Given the description of an element on the screen output the (x, y) to click on. 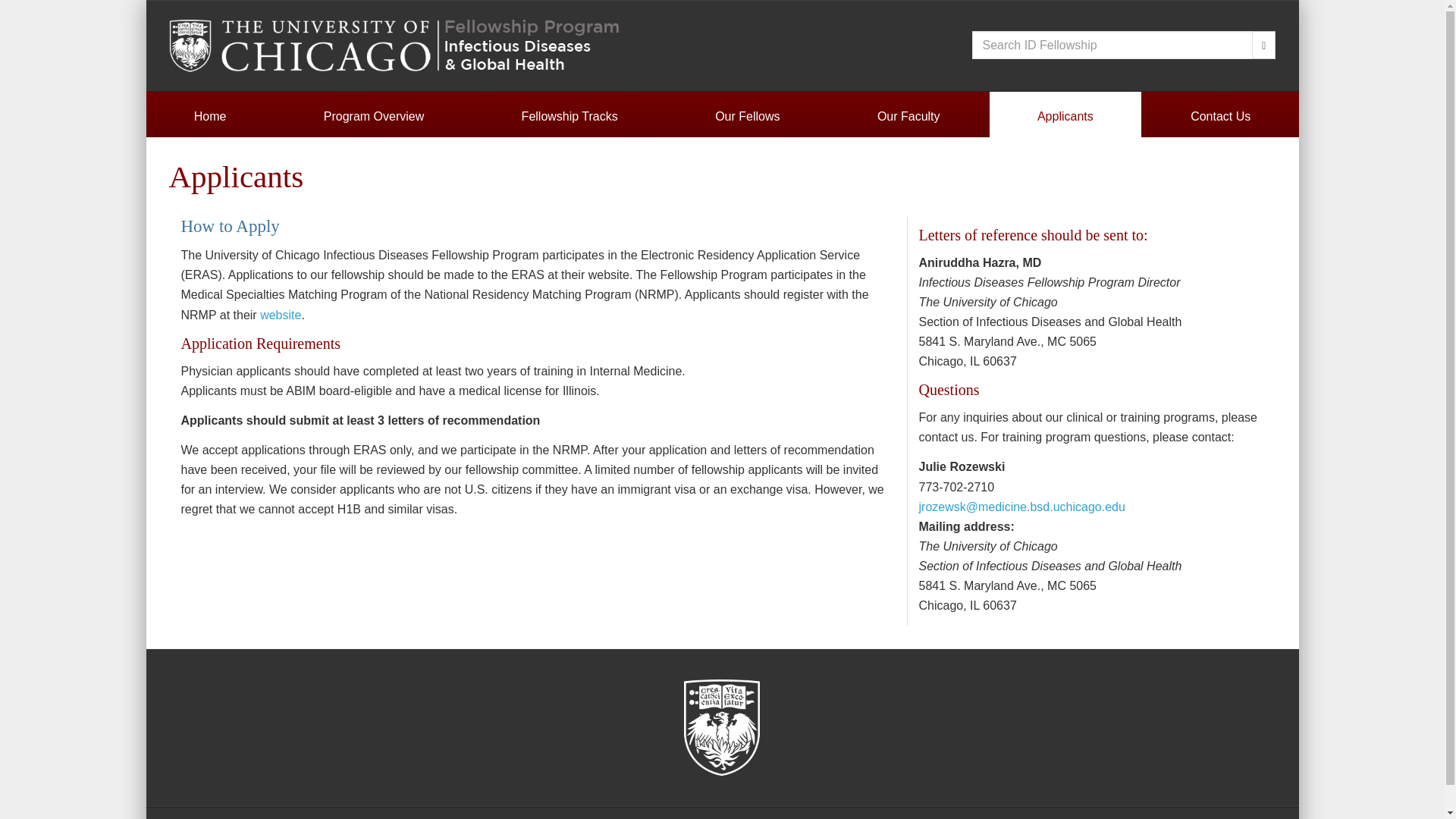
website (280, 314)
Program Overview (373, 116)
Our Fellows (747, 116)
Our Faculty (908, 116)
Fellowship Tracks (569, 116)
Contact Us (1220, 116)
Home (209, 116)
Applicants (1065, 116)
